Given the description of an element on the screen output the (x, y) to click on. 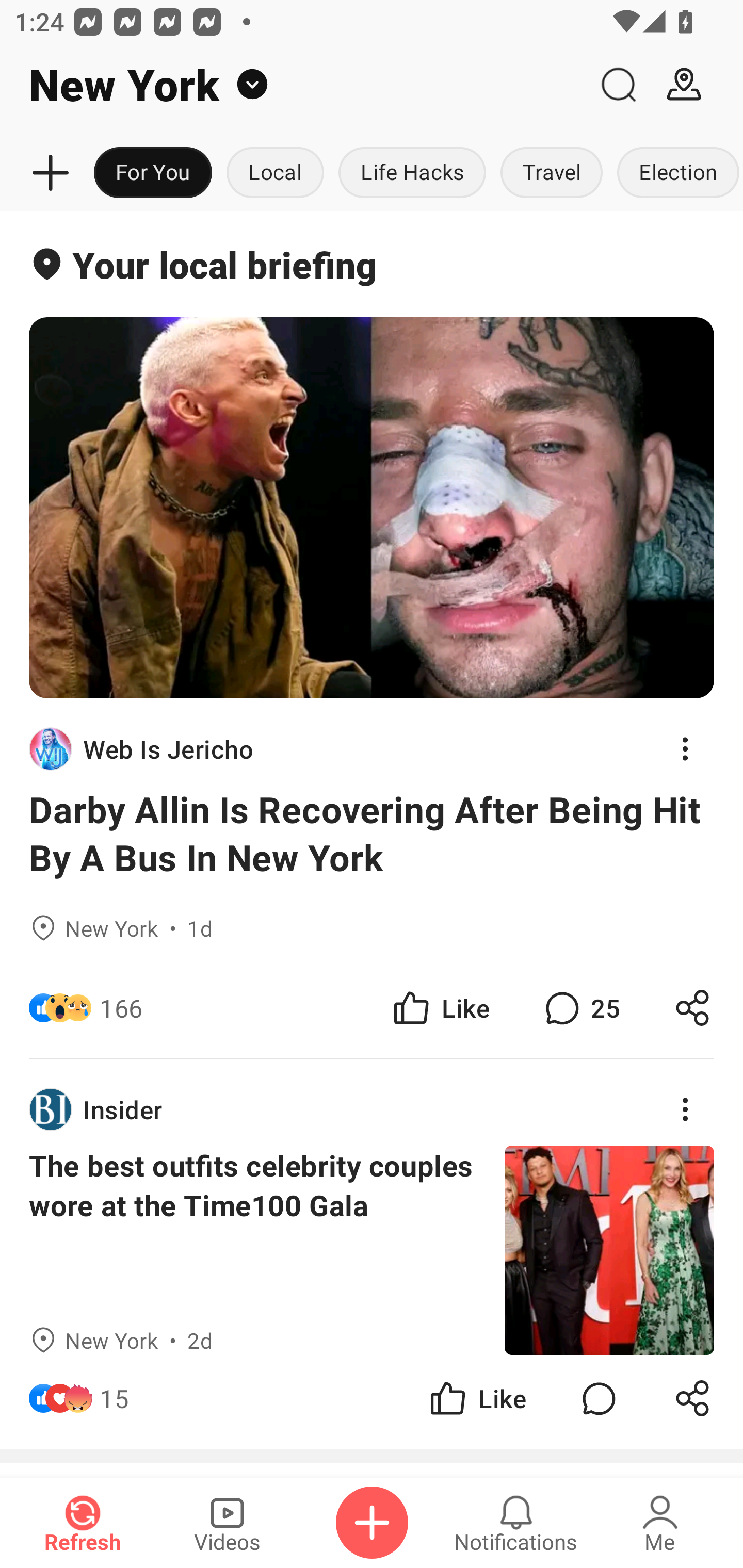
New York (292, 84)
For You (152, 172)
Local (275, 172)
Life Hacks (412, 172)
Travel (551, 172)
Election (676, 172)
166 (120, 1007)
Like (439, 1007)
25 (579, 1007)
15 (114, 1397)
Like (476, 1397)
Videos (227, 1522)
Notifications (516, 1522)
Me (659, 1522)
